Given the description of an element on the screen output the (x, y) to click on. 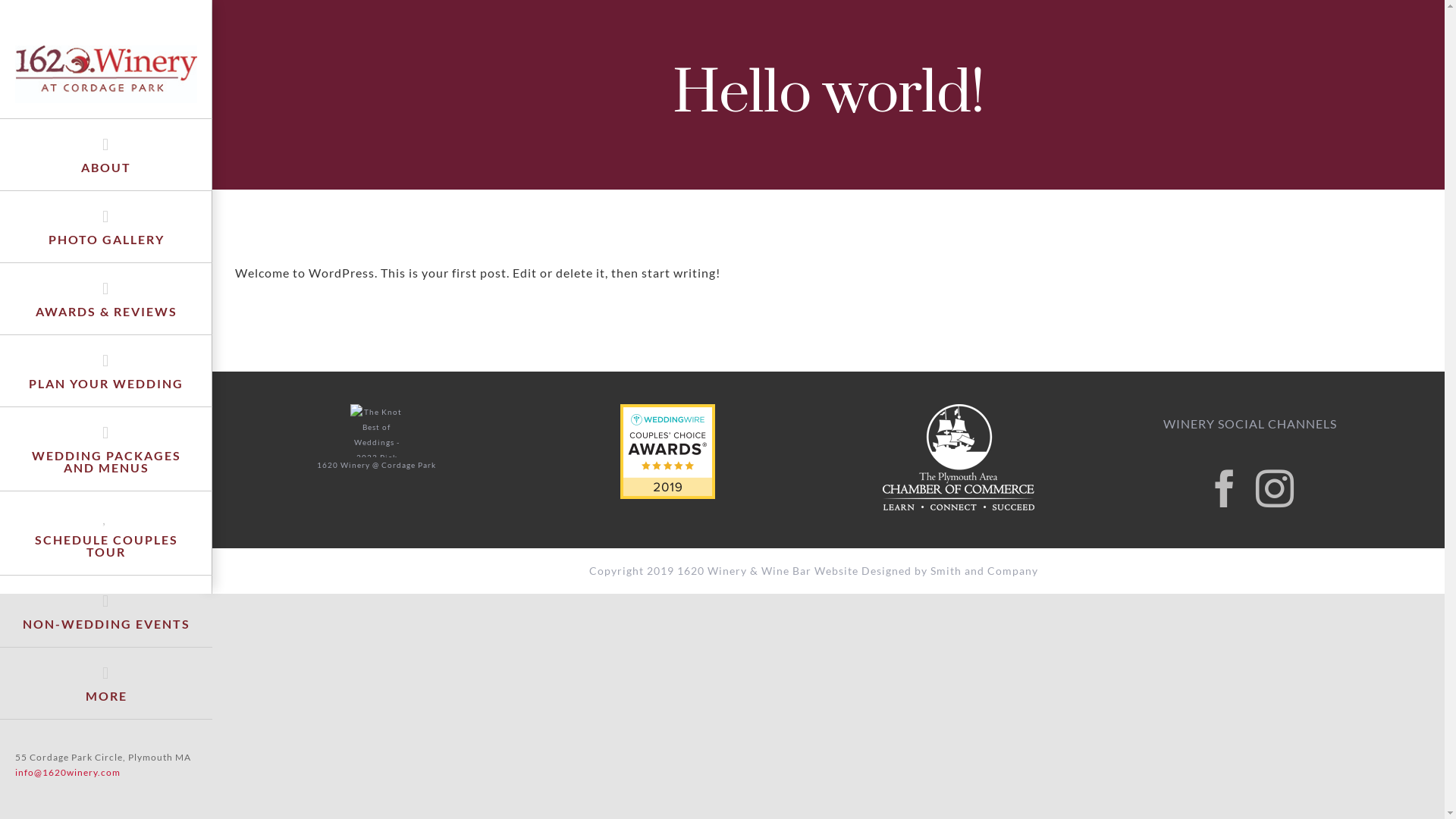
WeddingWire Couples' Choice Award Winner 2019 Element type: hover (667, 411)
AWARDS & REVIEWS Element type: text (106, 299)
WEDDING PACKAGES AND MENUS Element type: text (106, 449)
info@1620winery.com Element type: text (67, 772)
MORE Element type: text (106, 683)
Smith and Company Element type: text (983, 570)
ABOUT Element type: text (106, 154)
1620 Winery @ Cordage Park Element type: text (376, 462)
PHOTO GALLERY Element type: text (106, 227)
SCHEDULE COUPLES TOUR Element type: text (106, 533)
PLAN YOUR WEDDING Element type: text (106, 371)
NON-WEDDING EVENTS Element type: text (106, 611)
